Given the description of an element on the screen output the (x, y) to click on. 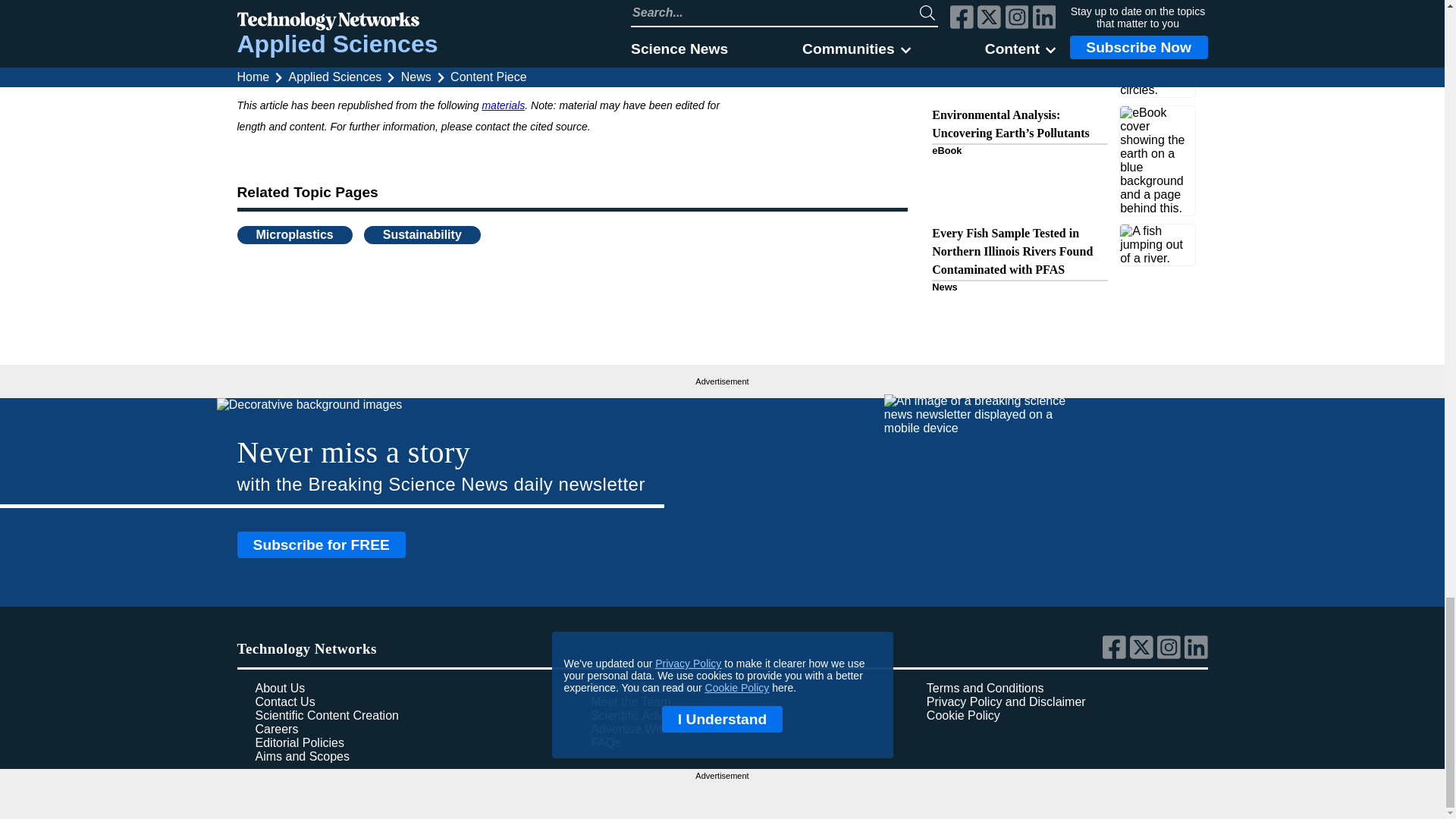
Link to Technology Networks' facebook page (1115, 655)
Link to Technology Networks' instagram page (1171, 655)
Link to Technology Networks' linkedin page (1196, 655)
Link to Technology Networks' twitter page (1143, 655)
